Given the description of an element on the screen output the (x, y) to click on. 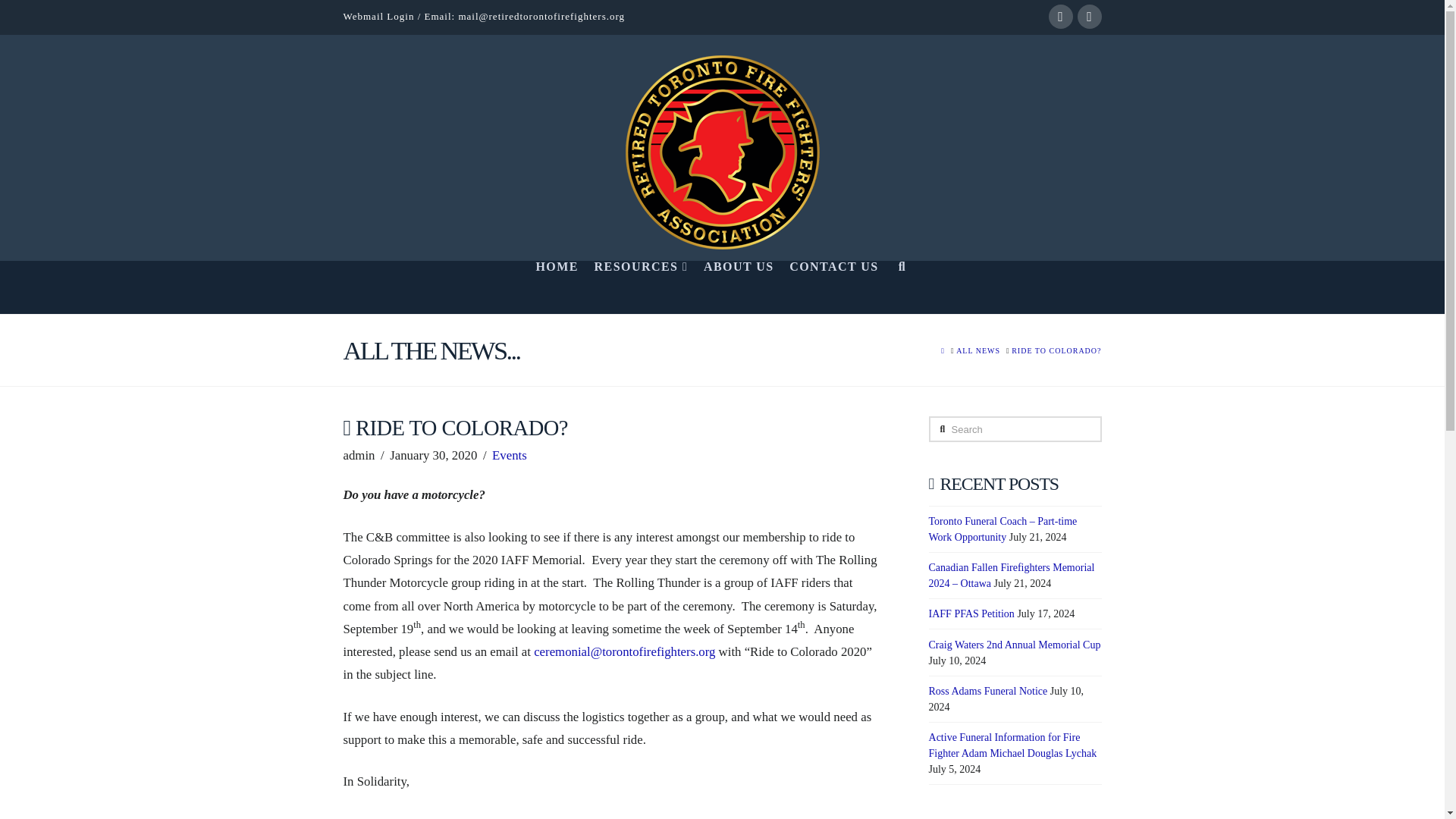
Facebook (1059, 16)
ABOUT US (737, 287)
RESOURCES (639, 287)
HOME (556, 287)
Webmail Login (377, 16)
You Are Here (1055, 350)
CONTACT US (832, 287)
